Given the description of an element on the screen output the (x, y) to click on. 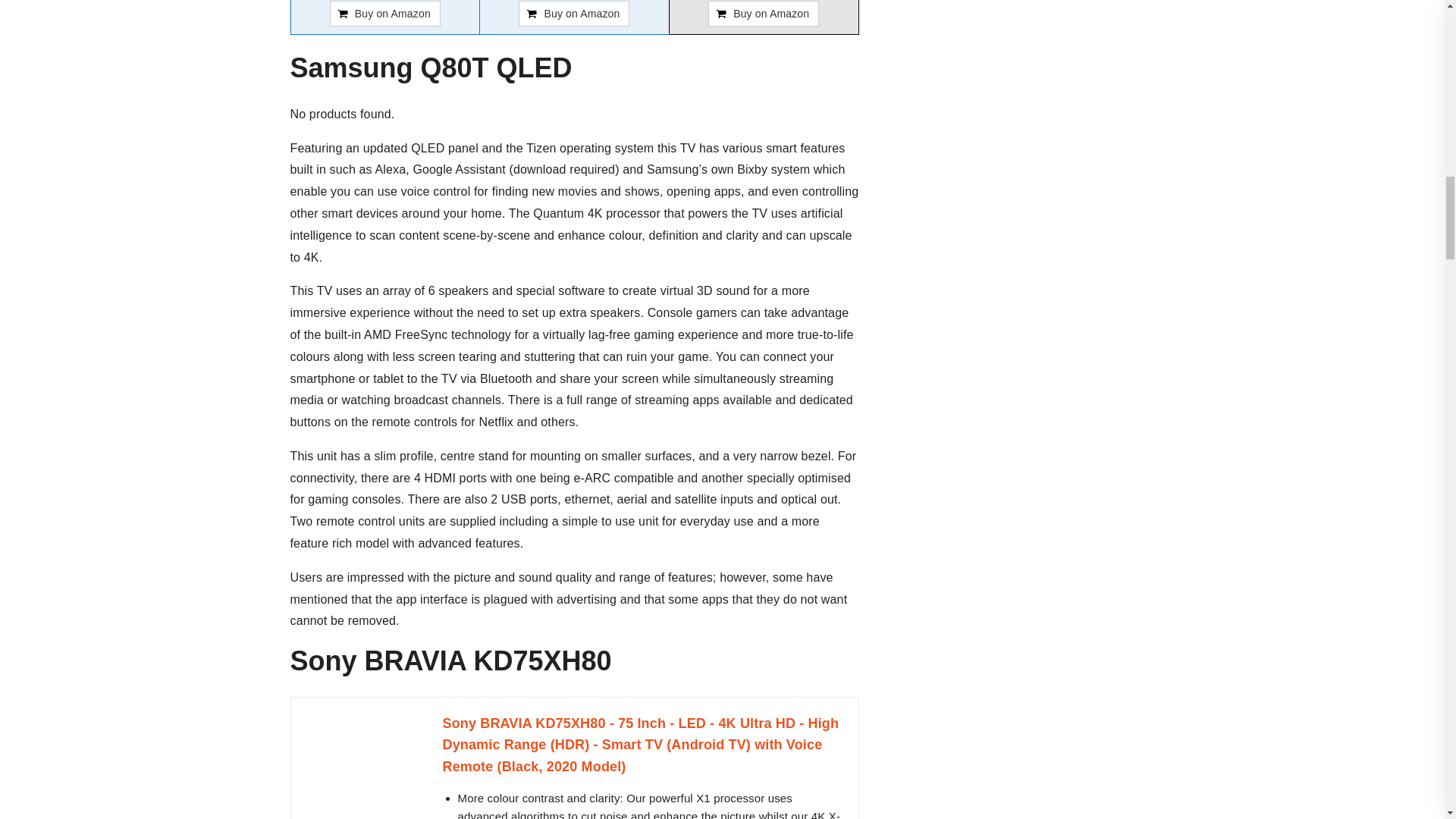
Buy on Amazon (573, 13)
Buy on Amazon (573, 13)
Buy on Amazon (385, 13)
Buy on Amazon (762, 13)
Buy on Amazon (385, 13)
Buy on Amazon (762, 13)
